Given the description of an element on the screen output the (x, y) to click on. 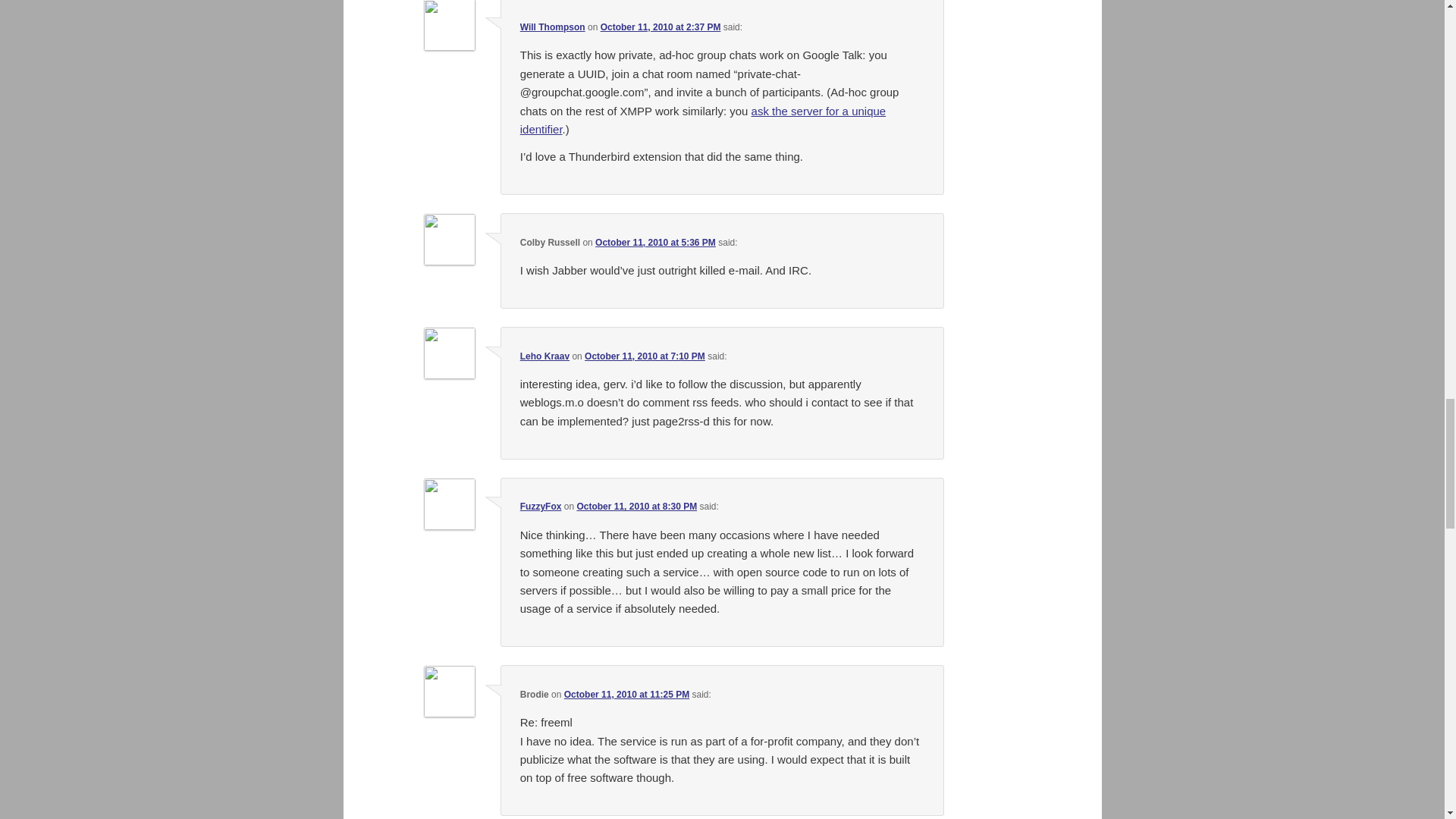
Leho Kraav (544, 356)
October 11, 2010 at 7:10 PM (644, 356)
FuzzyFox (540, 506)
ask the server for a unique identifier (702, 119)
October 11, 2010 at 11:25 PM (626, 694)
October 11, 2010 at 8:30 PM (636, 506)
October 11, 2010 at 5:36 PM (655, 242)
October 11, 2010 at 2:37 PM (659, 27)
Will Thompson (552, 27)
